Given the description of an element on the screen output the (x, y) to click on. 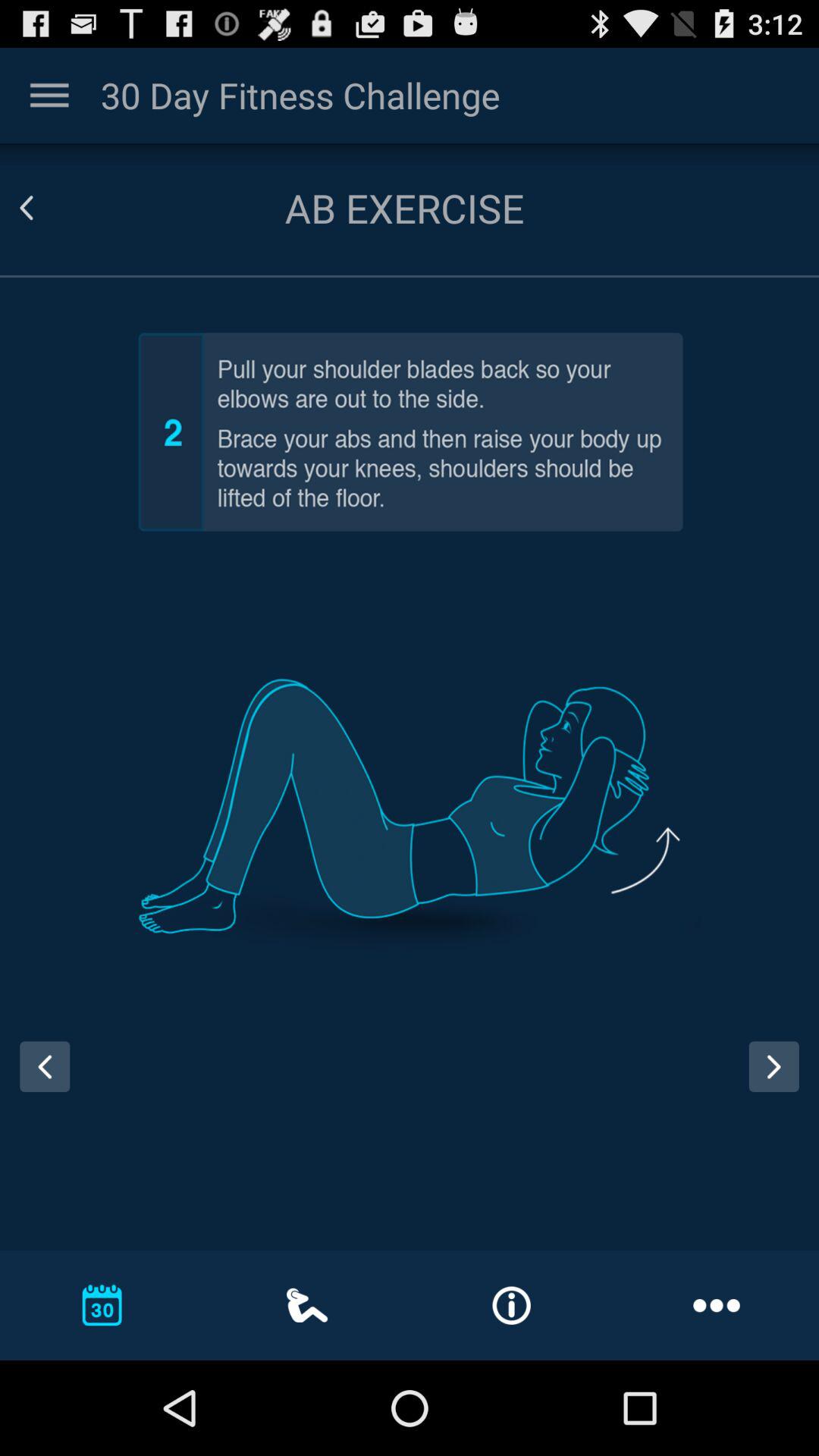
go back (44, 208)
